Given the description of an element on the screen output the (x, y) to click on. 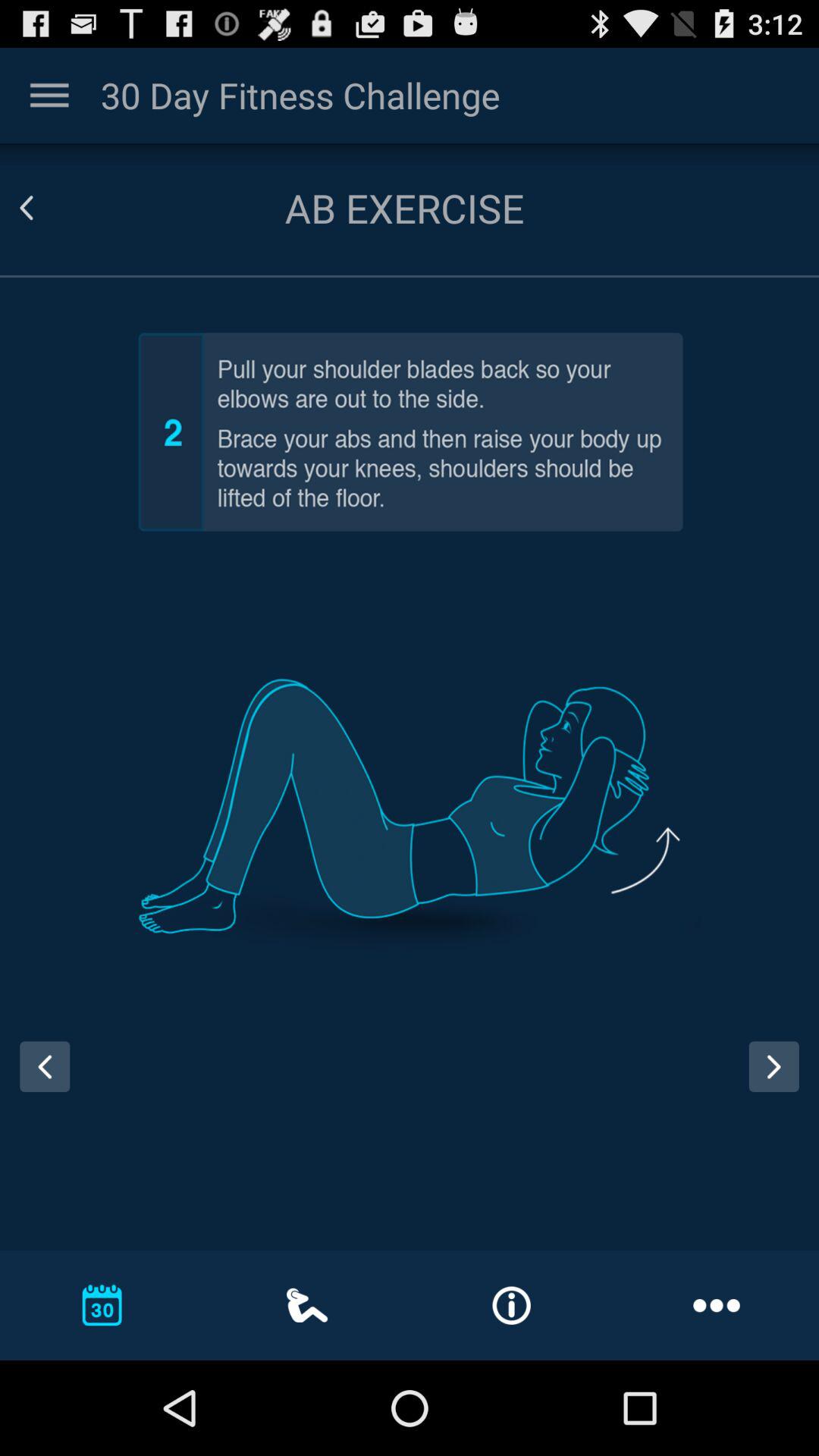
go back (44, 208)
